Given the description of an element on the screen output the (x, y) to click on. 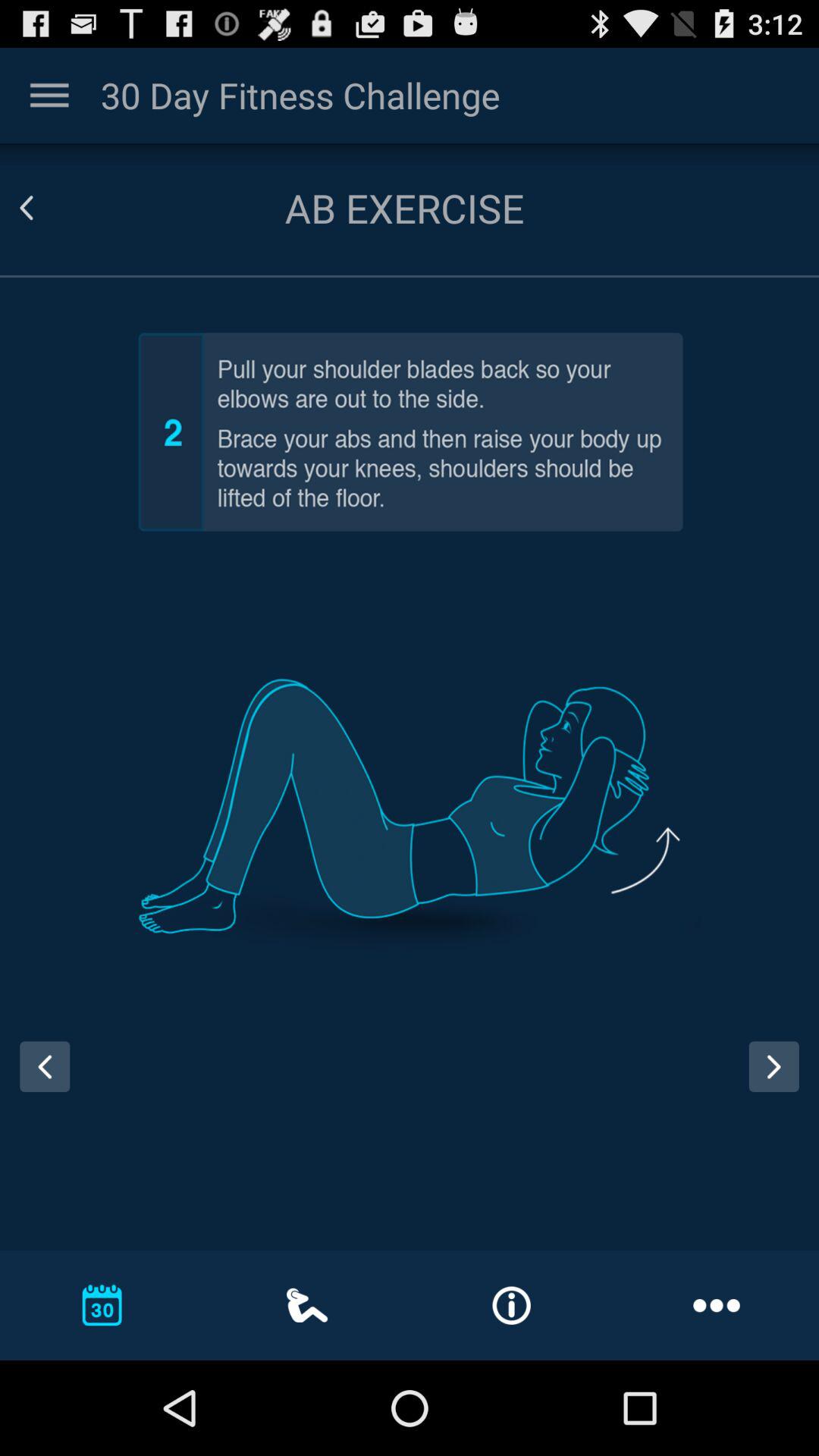
go back (44, 208)
